Given the description of an element on the screen output the (x, y) to click on. 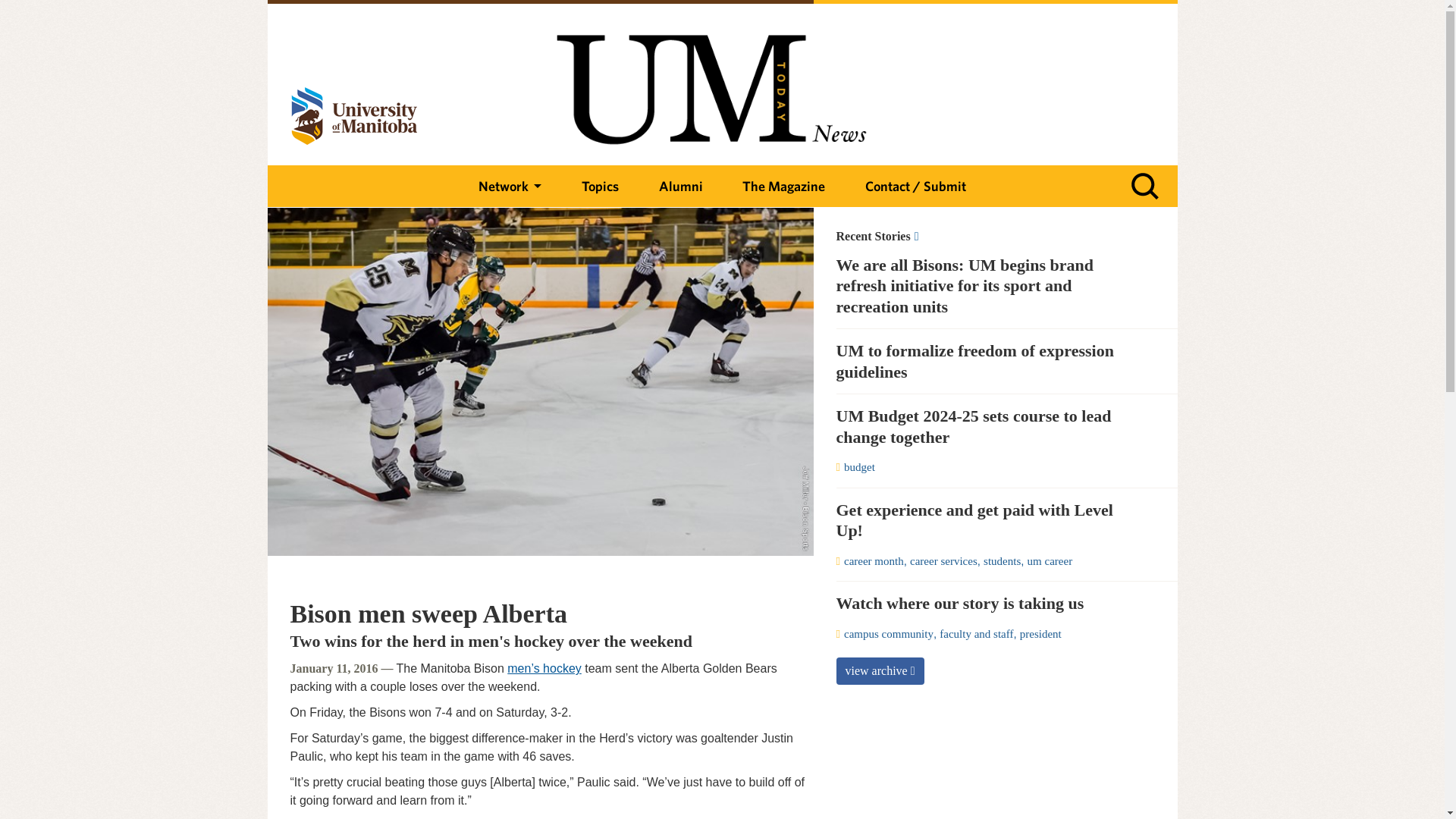
Watch where our story is taking us (986, 603)
UM Budget 2024-25 sets course to lead change together (986, 426)
News Archives (986, 236)
Network (510, 186)
UM to formalize freedom of expression guidelines (986, 361)
Get experience and get paid with Level Up! (986, 520)
